Given the description of an element on the screen output the (x, y) to click on. 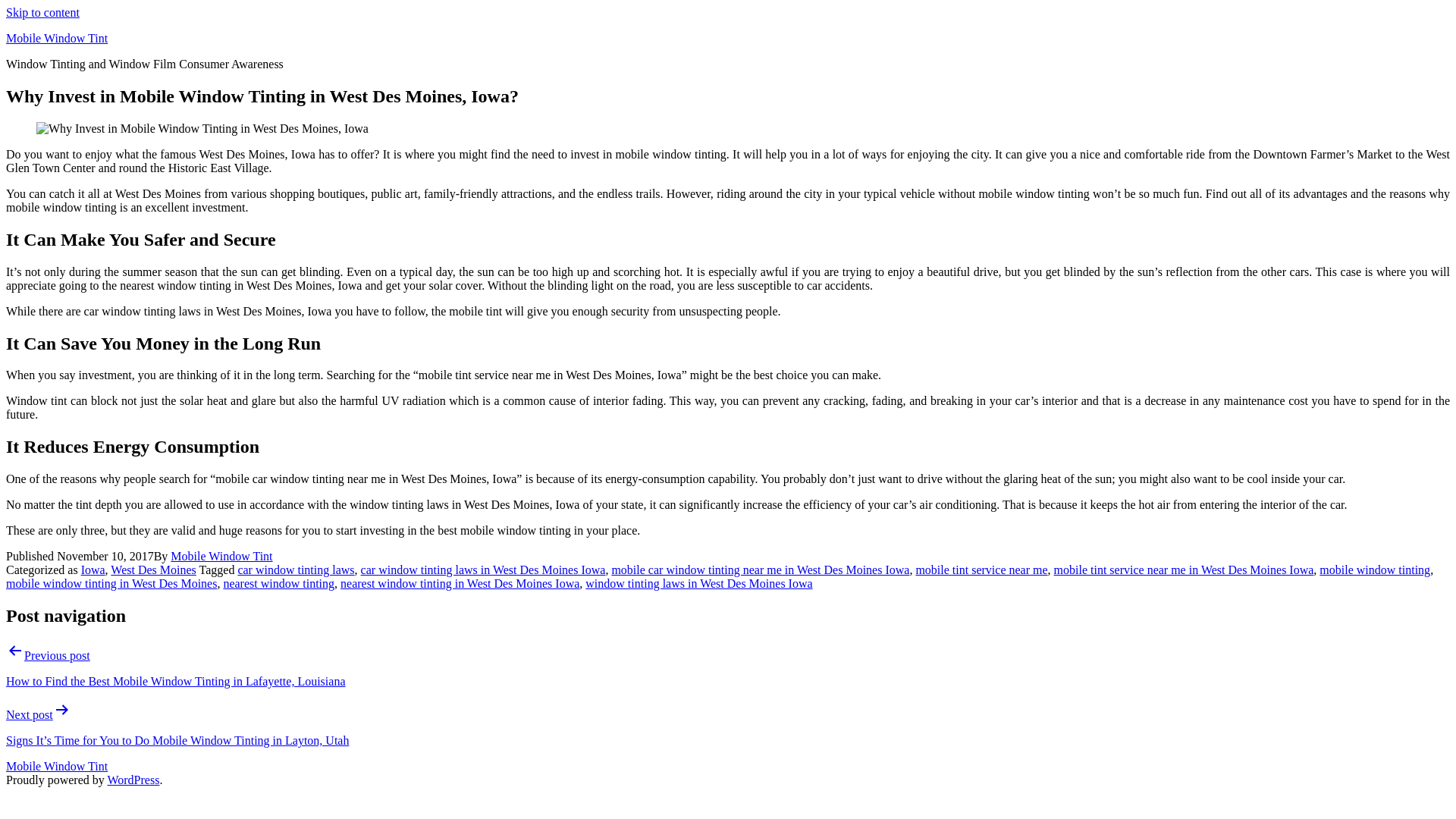
window tinting laws in West Des Moines Iowa (698, 583)
car window tinting laws (295, 569)
Iowa (92, 569)
car window tinting laws in West Des Moines Iowa (483, 569)
nearest window tinting in West Des Moines Iowa (459, 583)
West Des Moines (152, 569)
mobile window tinting in West Des Moines (110, 583)
nearest window tinting (278, 583)
mobile window tinting (1374, 569)
mobile tint service near me (980, 569)
